Given the description of an element on the screen output the (x, y) to click on. 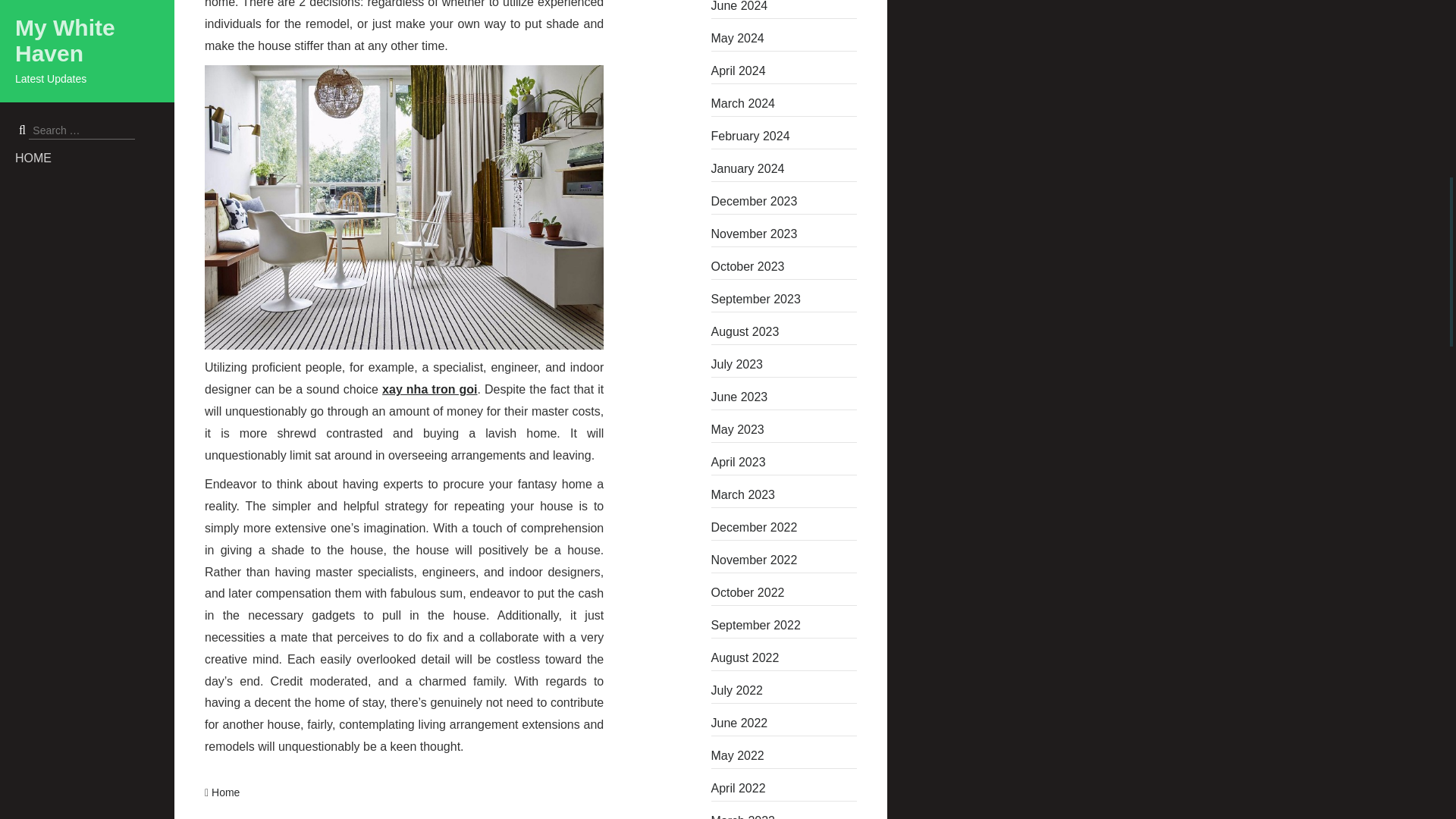
November 2022 (784, 559)
November 2023 (784, 233)
August 2022 (784, 658)
March 2024 (784, 103)
June 2022 (784, 723)
August 2023 (784, 331)
xay nha tron goi (429, 389)
Home (225, 792)
April 2023 (784, 462)
December 2022 (784, 527)
